Given the description of an element on the screen output the (x, y) to click on. 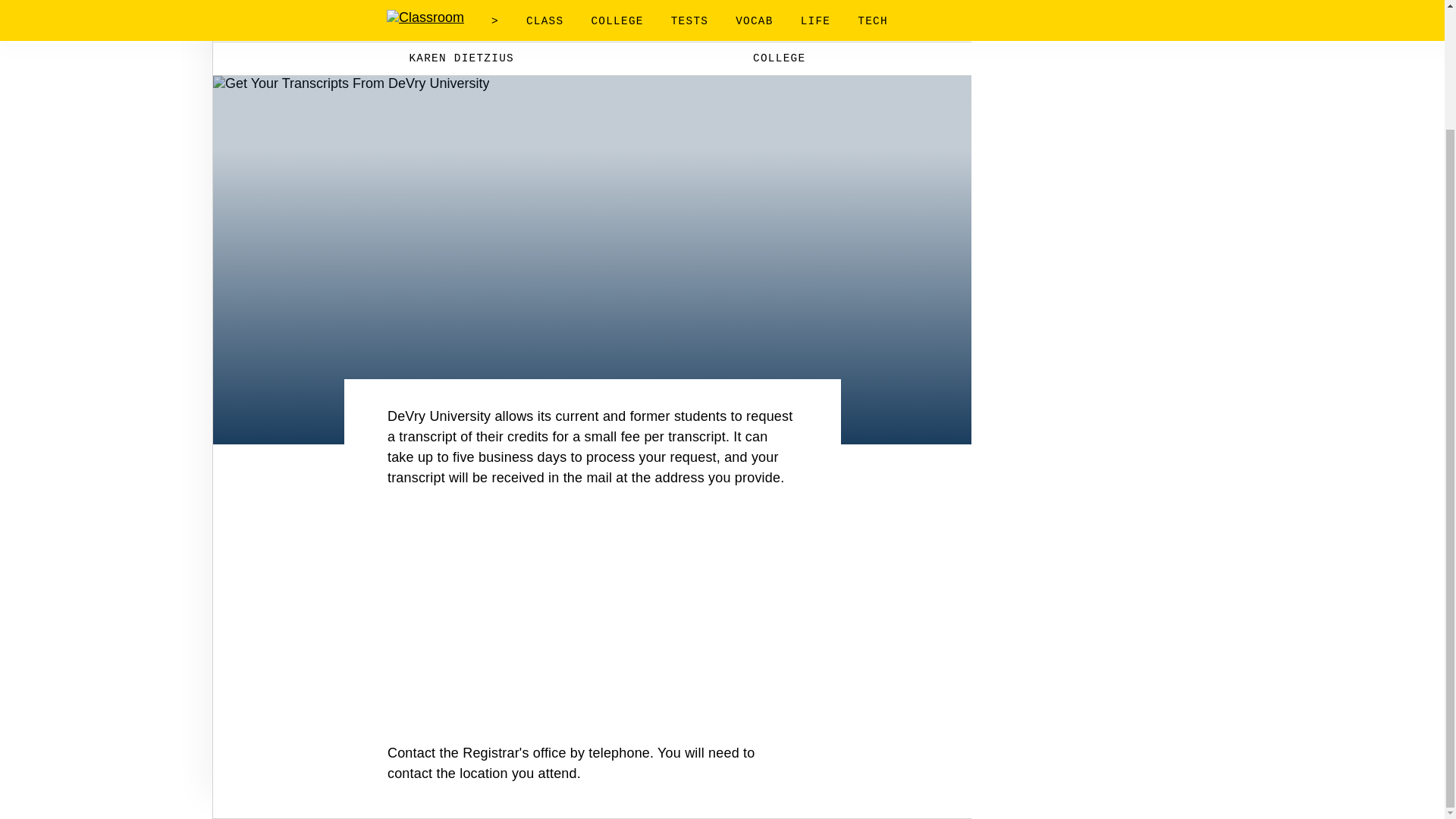
COLLEGE (769, 58)
